Given the description of an element on the screen output the (x, y) to click on. 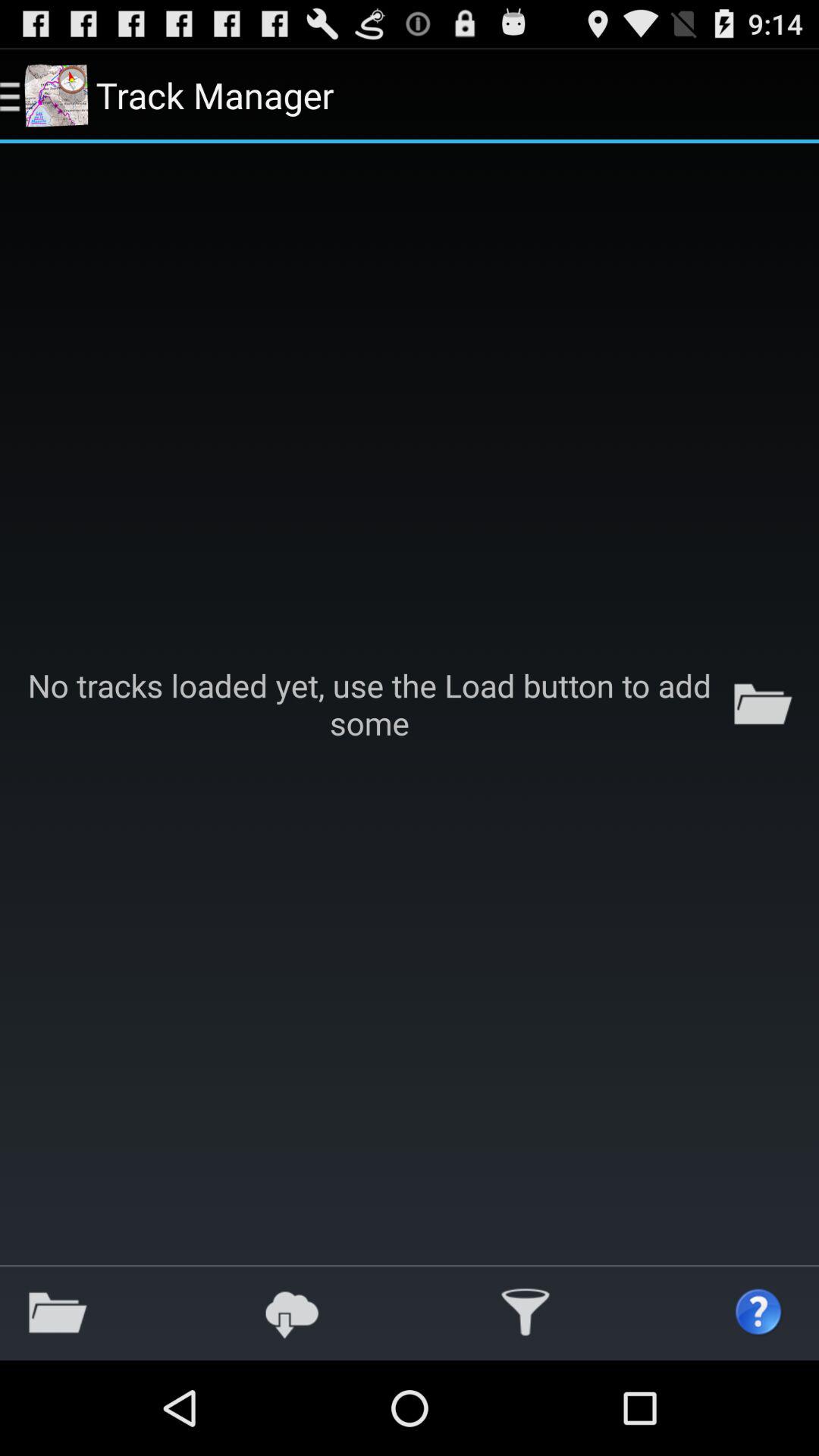
turn off icon below the no tracks loaded icon (525, 1312)
